Given the description of an element on the screen output the (x, y) to click on. 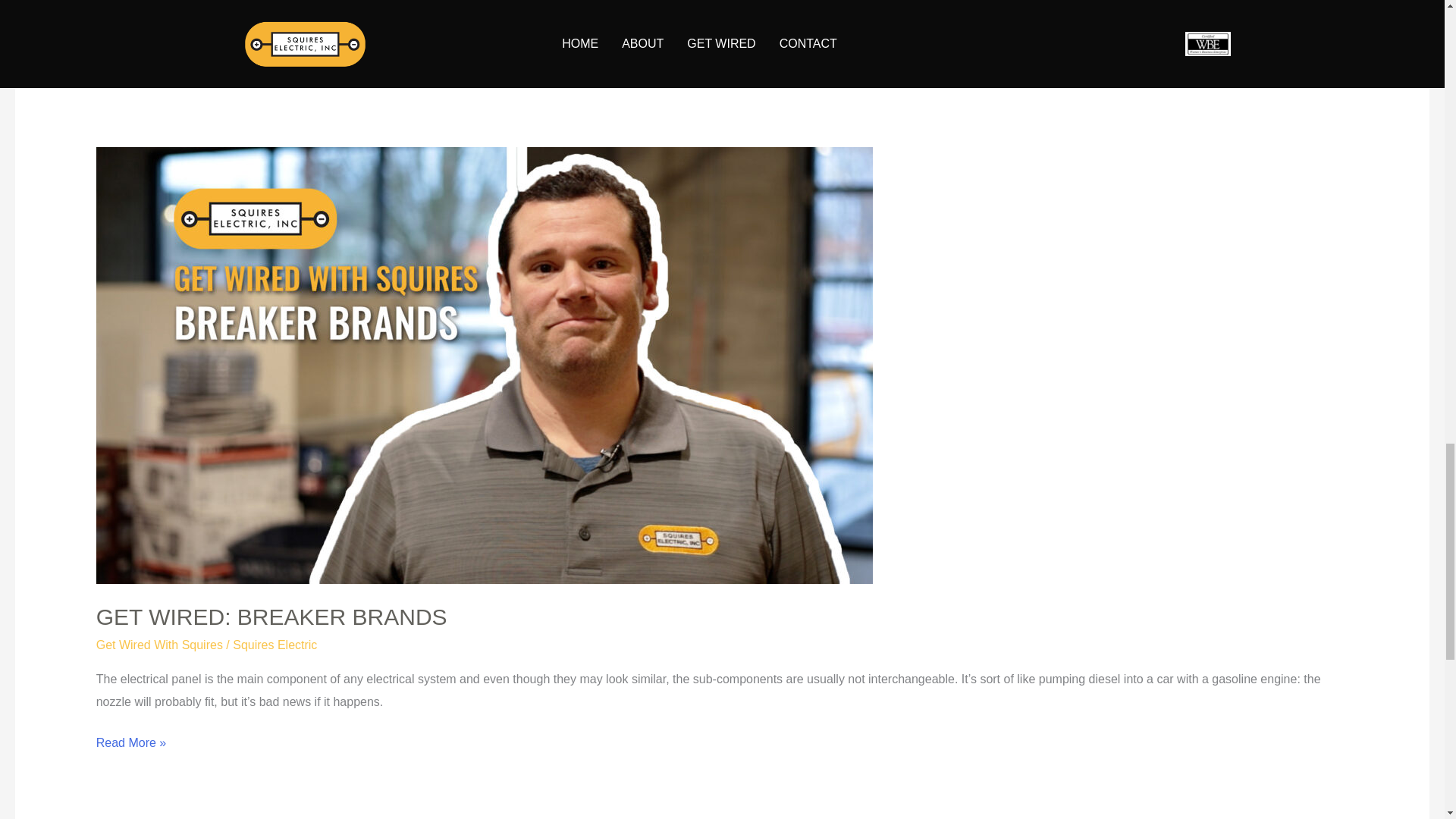
GET WIRED: BREAKER BRANDS (271, 616)
View all posts by Squires Electric (274, 644)
Squires Electric (274, 644)
Get Wired With Squires (159, 644)
